Given the description of an element on the screen output the (x, y) to click on. 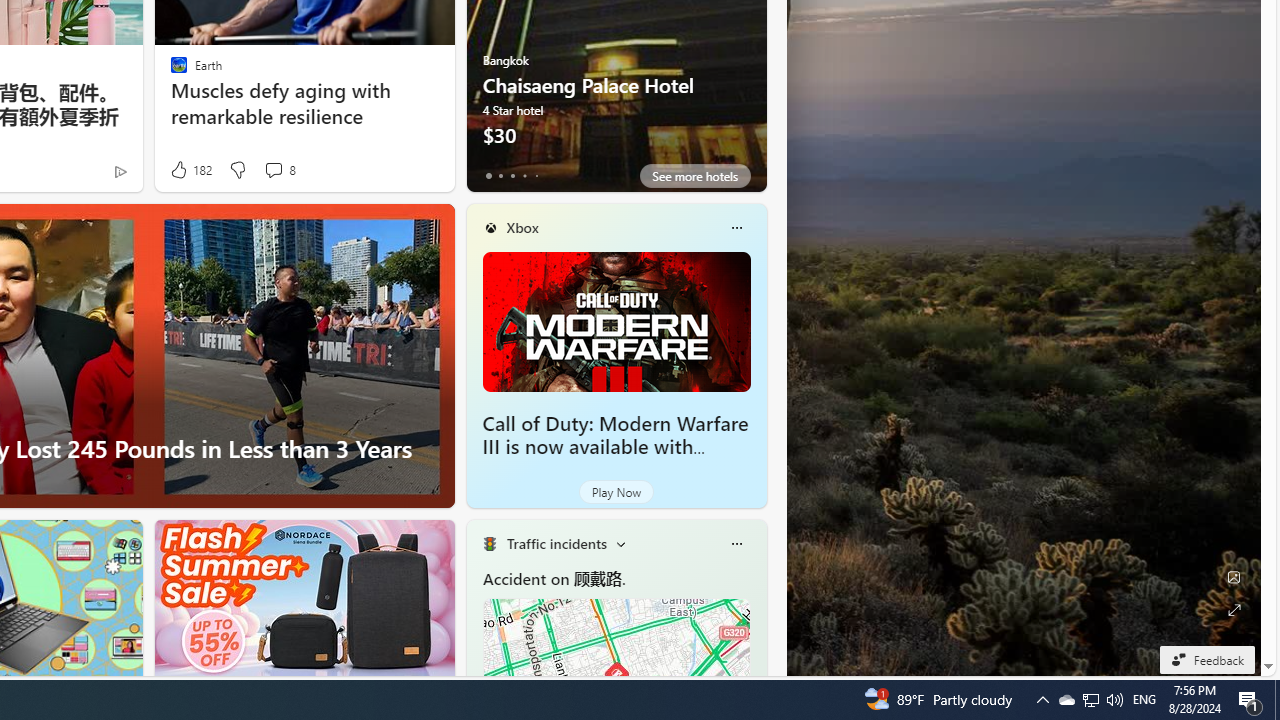
Xbox (521, 227)
See more hotels (694, 175)
Change scenarios (620, 543)
View comments 8 Comment (273, 169)
tab-4 (535, 175)
Expand background (1233, 610)
Play Now (616, 491)
182 Like (190, 170)
Traffic incidents (555, 543)
Traffic Title Traffic Light (489, 543)
tab-2 (511, 175)
tab-3 (524, 175)
